Given the description of an element on the screen output the (x, y) to click on. 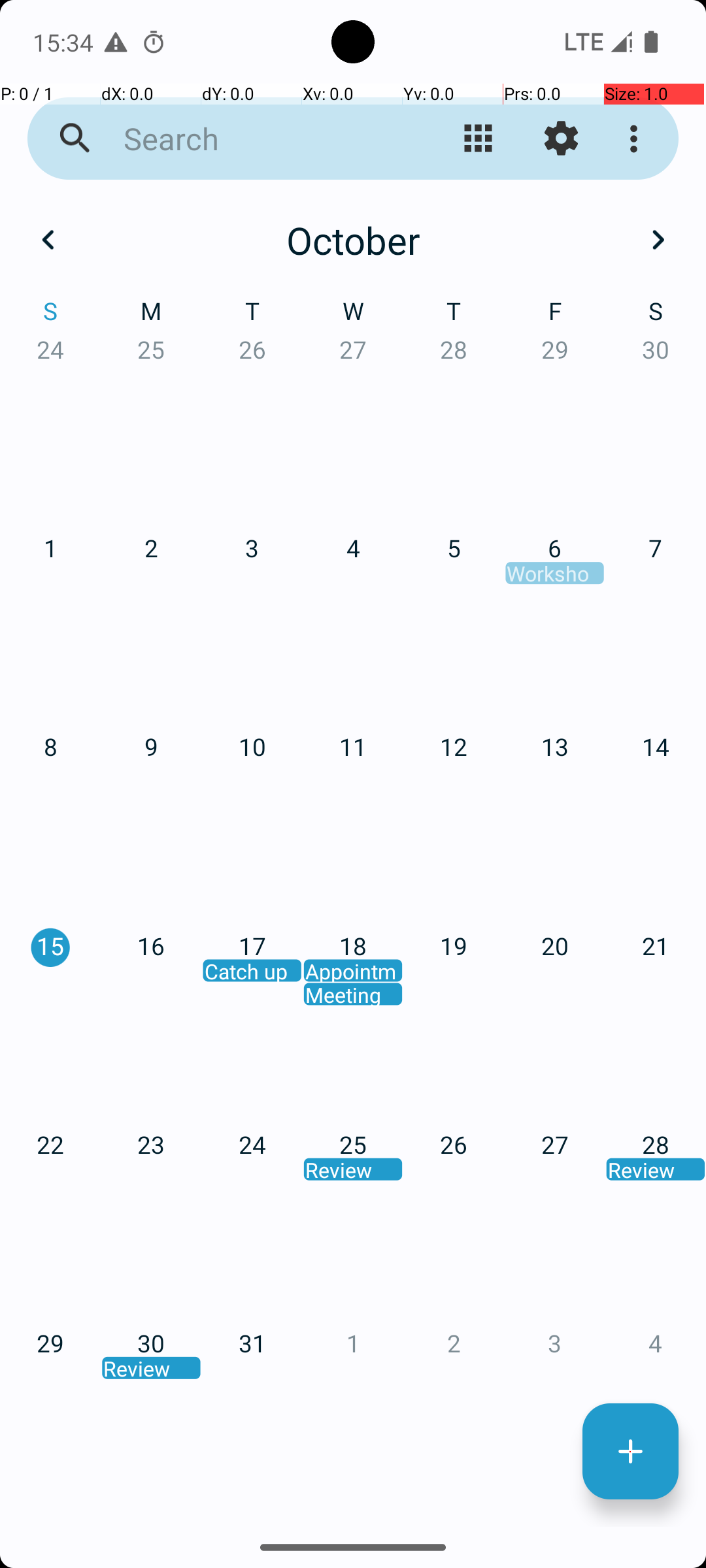
October Element type: android.widget.TextView (352, 239)
